Given the description of an element on the screen output the (x, y) to click on. 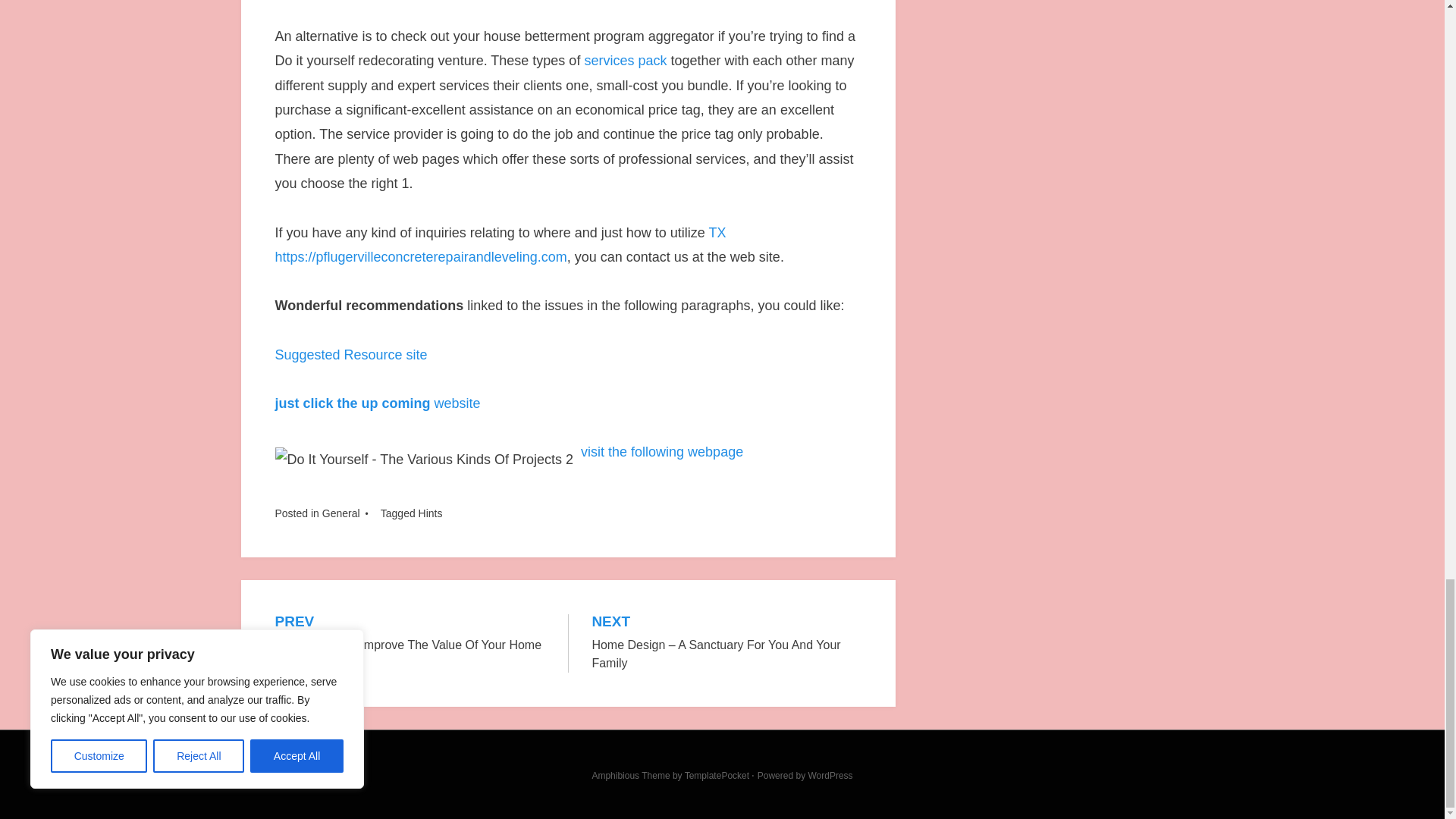
services pack (624, 60)
WordPress (829, 775)
Suggested Resource site (350, 354)
visit the following webpage (661, 451)
TemplatePocket (716, 775)
Hints (430, 512)
just click the up coming website (377, 403)
General (340, 512)
